Given the description of an element on the screen output the (x, y) to click on. 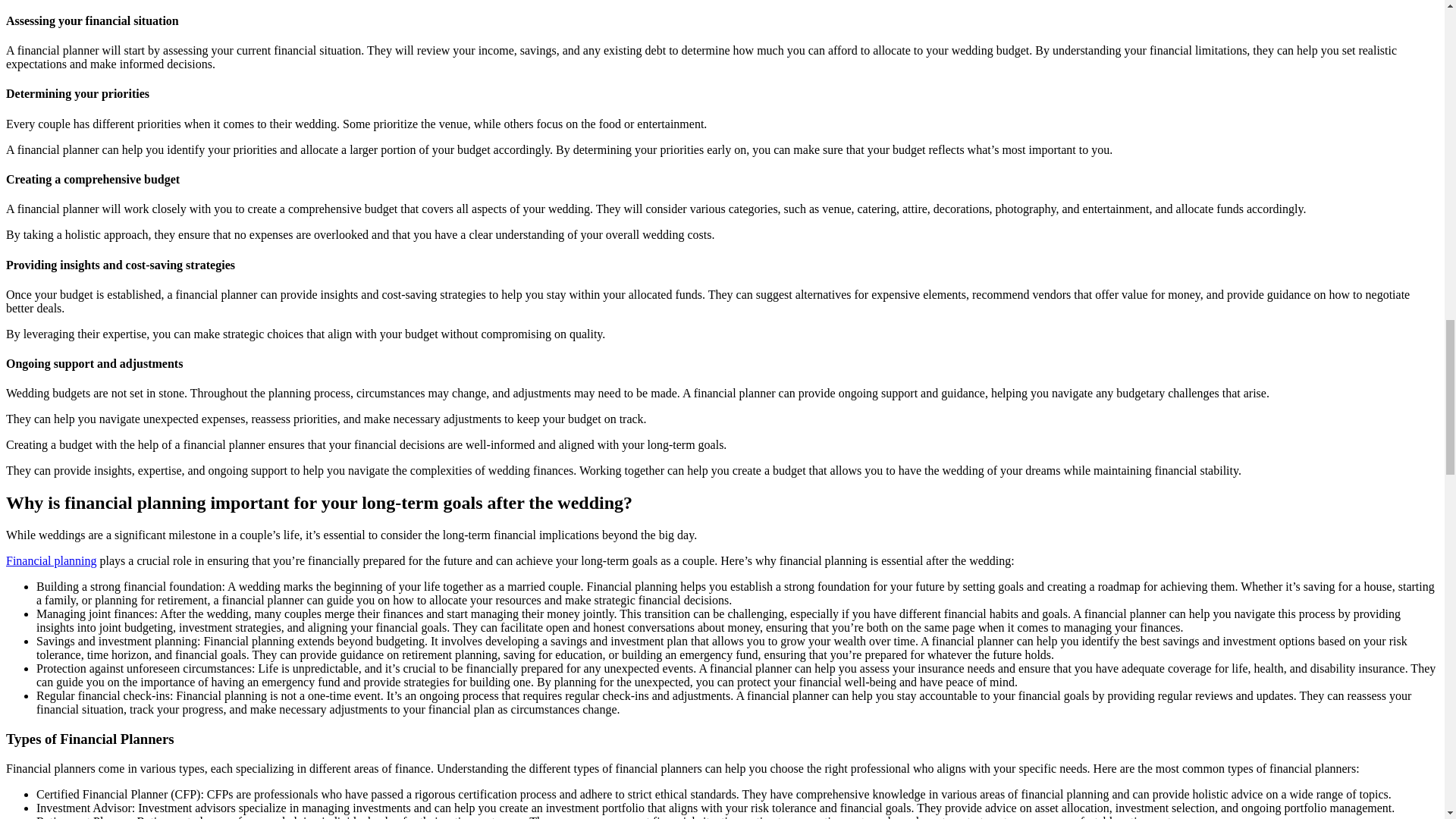
Financial planning (51, 560)
